Given the description of an element on the screen output the (x, y) to click on. 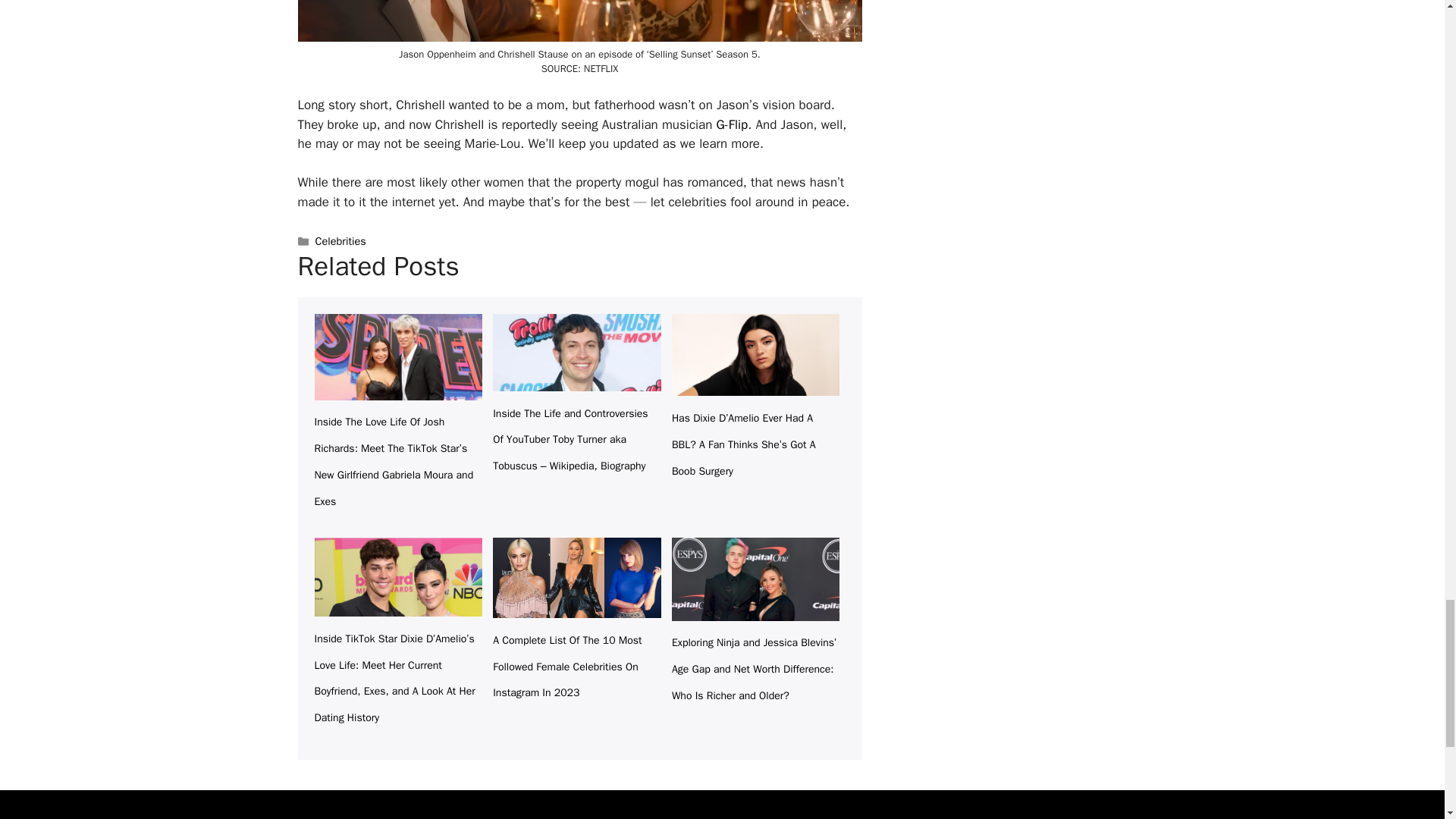
G-Flip (732, 124)
Celebrities (340, 241)
